Given the description of an element on the screen output the (x, y) to click on. 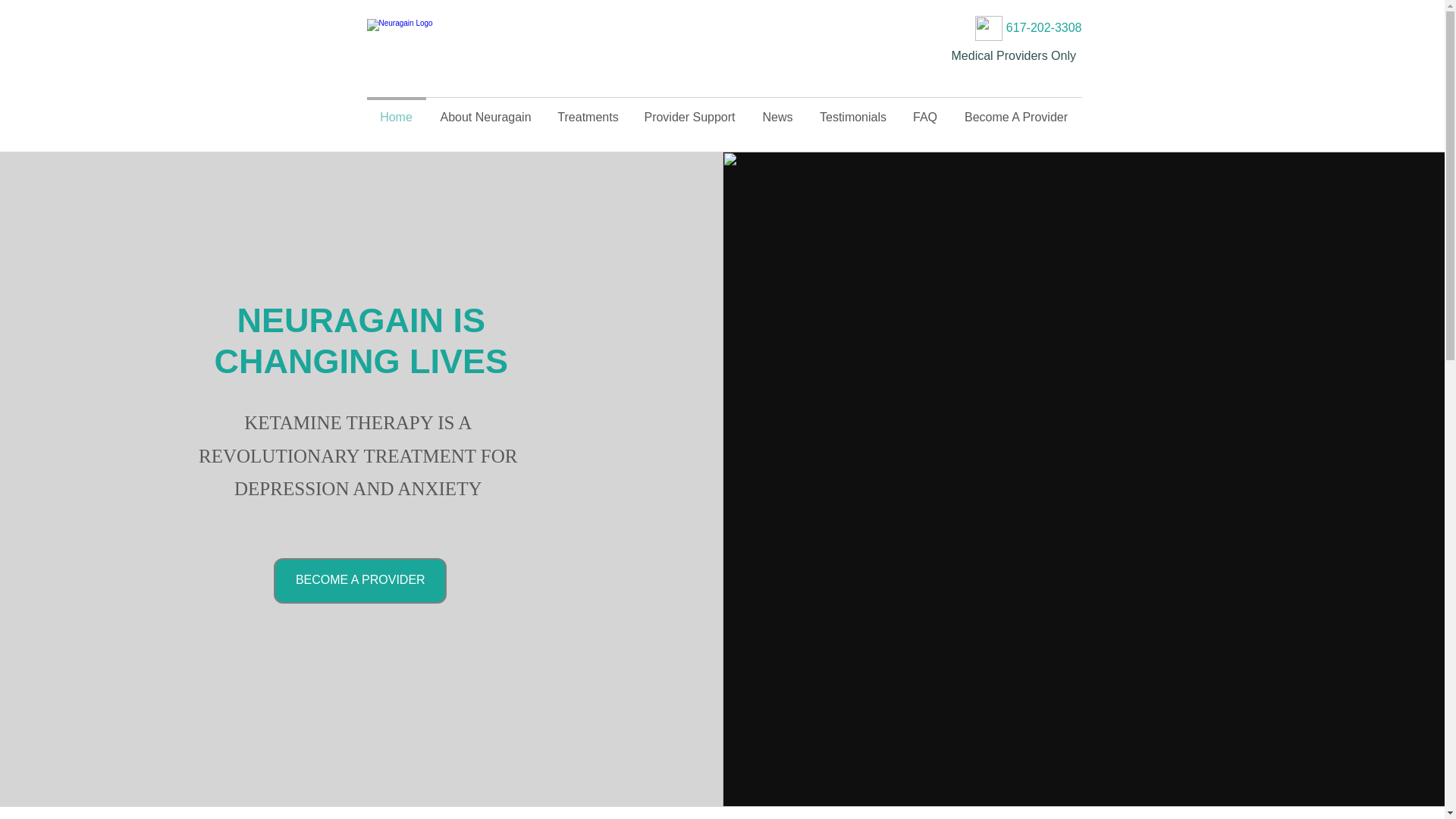
About Neuragain (486, 110)
BECOME A PROVIDER (359, 580)
Neuragain Logo (444, 43)
News (777, 110)
Treatments (588, 110)
Become A Provider (1015, 110)
Provider Support (689, 110)
FAQ (924, 110)
Testimonials (852, 110)
Home (396, 110)
